Given the description of an element on the screen output the (x, y) to click on. 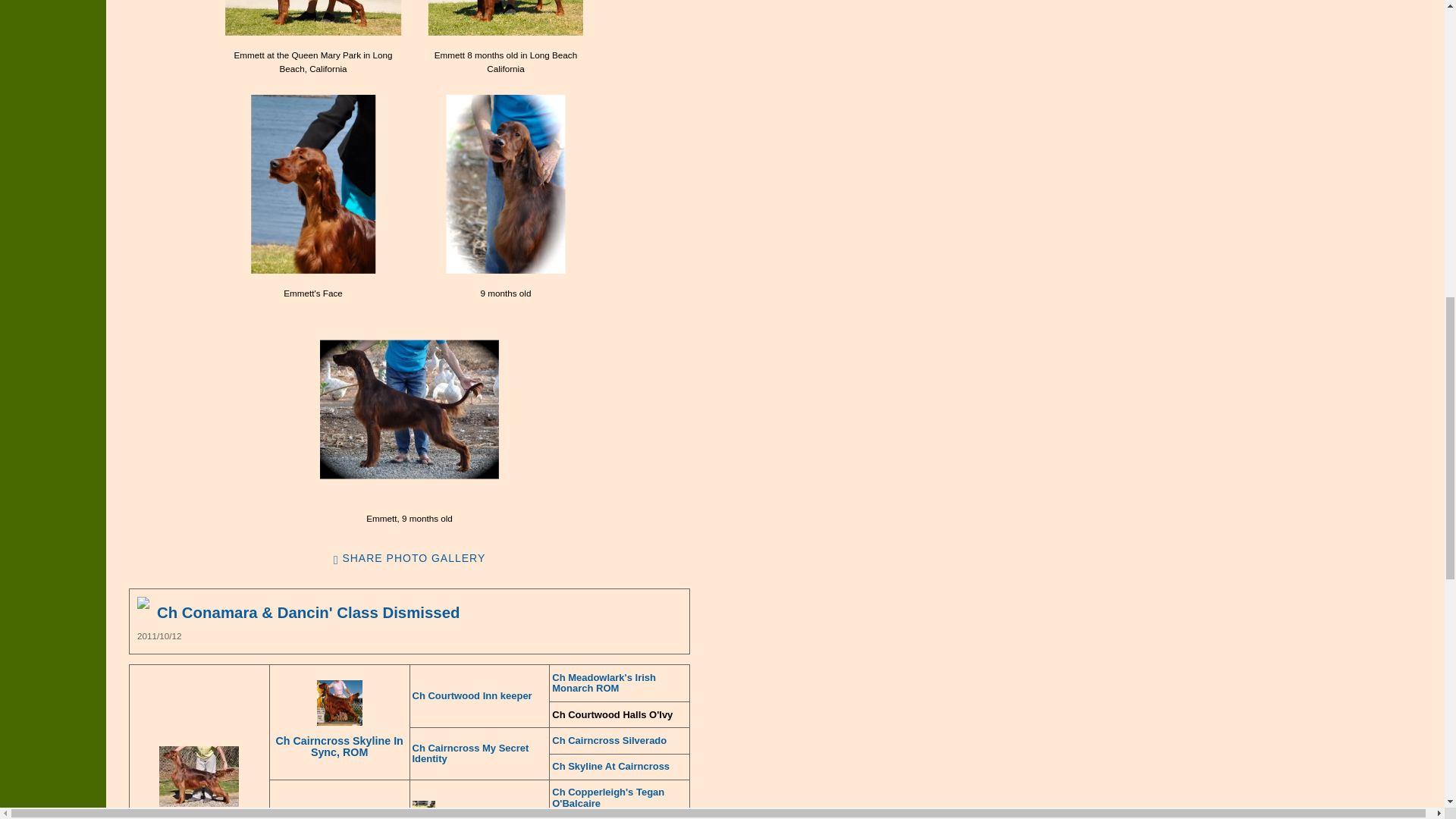
Ch Courtwood Halls O'Ivy (619, 715)
Ch Courtwood Inn keeper (479, 696)
Ch Meadowlark's Irish Monarch ROM (619, 683)
Ch Cairncross My Secret Identity (313, 184)
Share Emmett (505, 18)
Ch Cairncross Skyline In Sync, ROM - OFA Good (479, 753)
Ch Conamara N' Greengate All Fyred Up (313, 18)
Ch Cairncross Skyline In Sync, ROM (409, 409)
Ch Cairncross Silverado (409, 558)
